Given the description of an element on the screen output the (x, y) to click on. 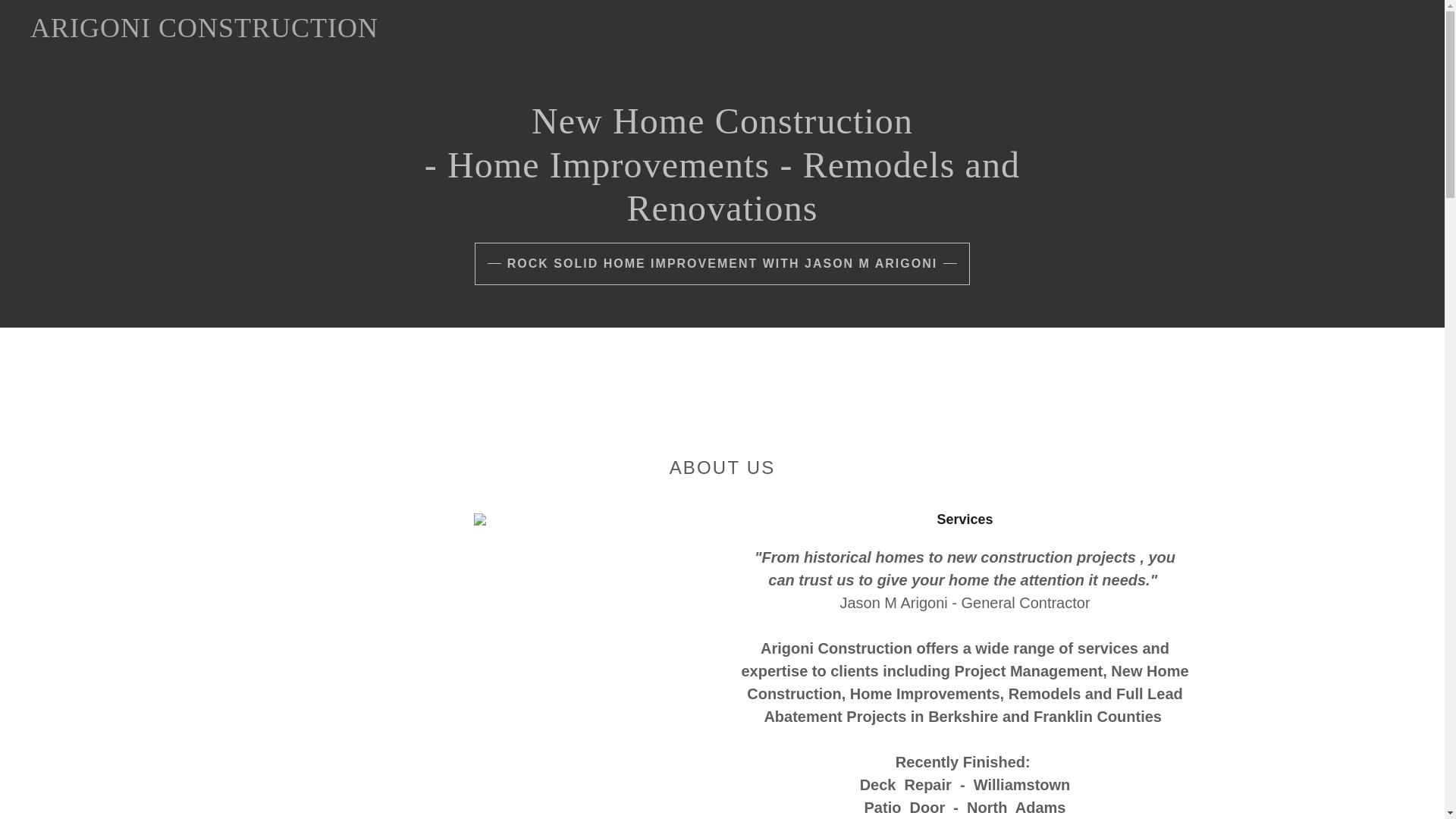
ROCK SOLID HOME IMPROVEMENT WITH JASON M ARIGONI (721, 263)
ARIGONI CONSTRUCTION (226, 32)
ARIGONI CONSTRUCTION (226, 32)
